Given the description of an element on the screen output the (x, y) to click on. 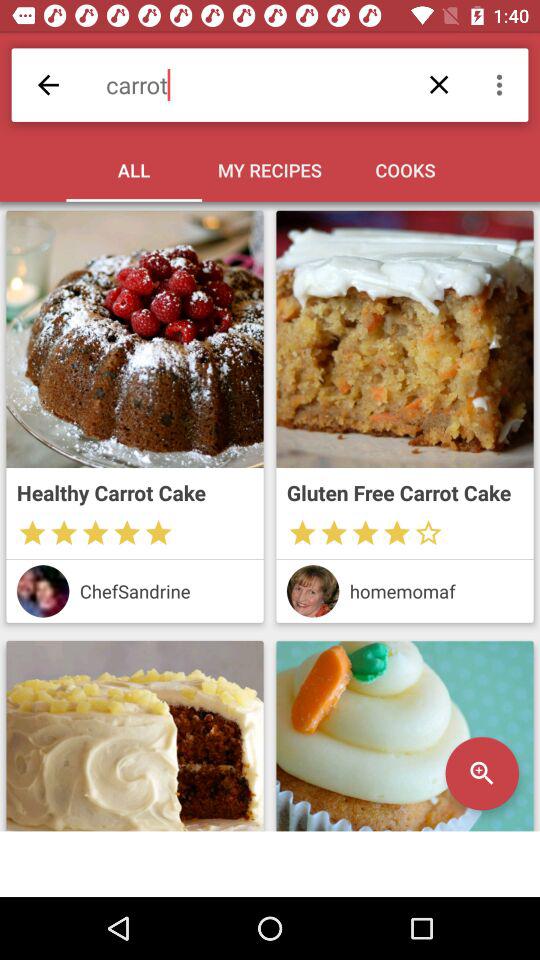
jump until chefsandrine item (166, 590)
